Given the description of an element on the screen output the (x, y) to click on. 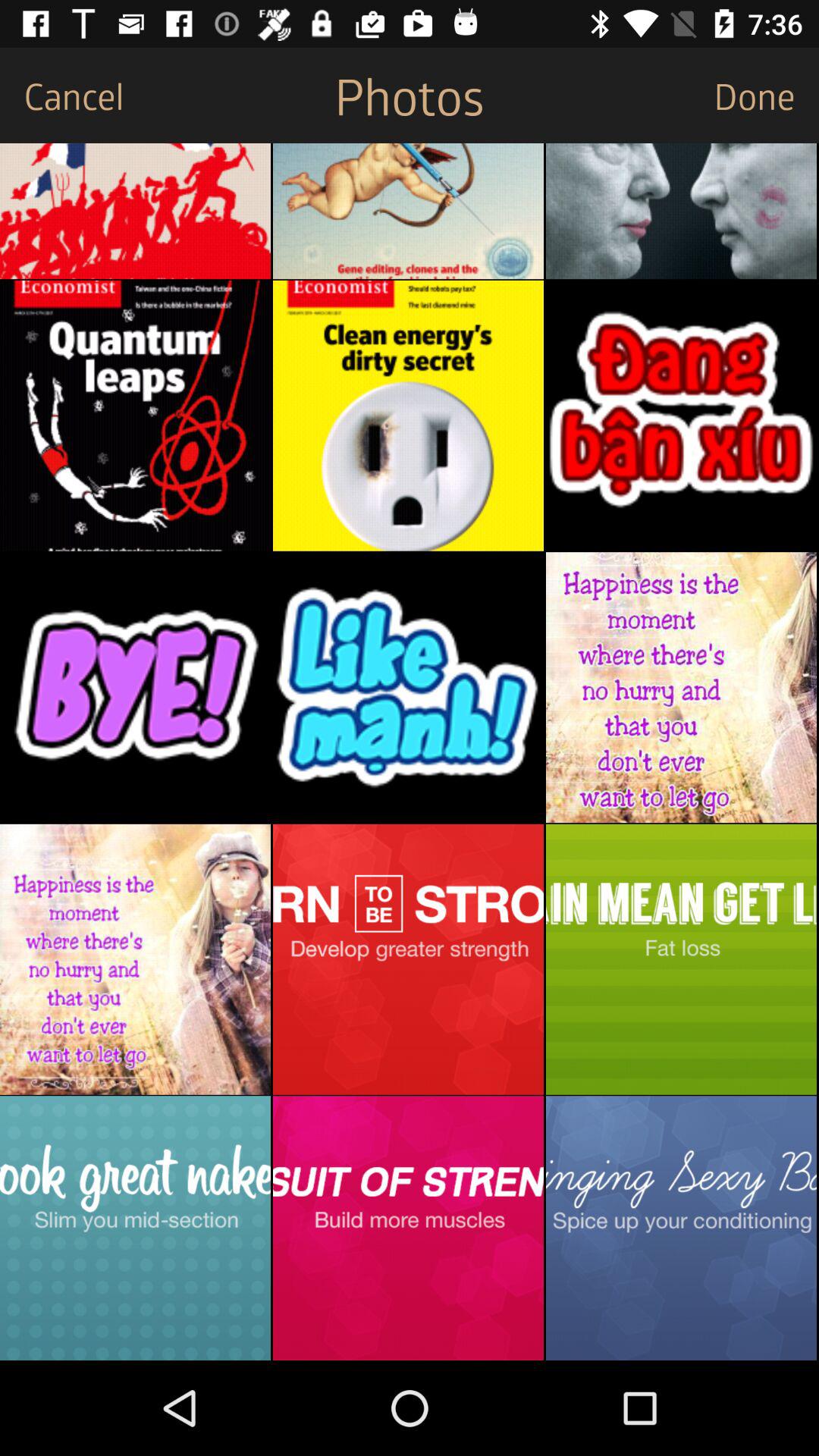
open photo (681, 415)
